Given the description of an element on the screen output the (x, y) to click on. 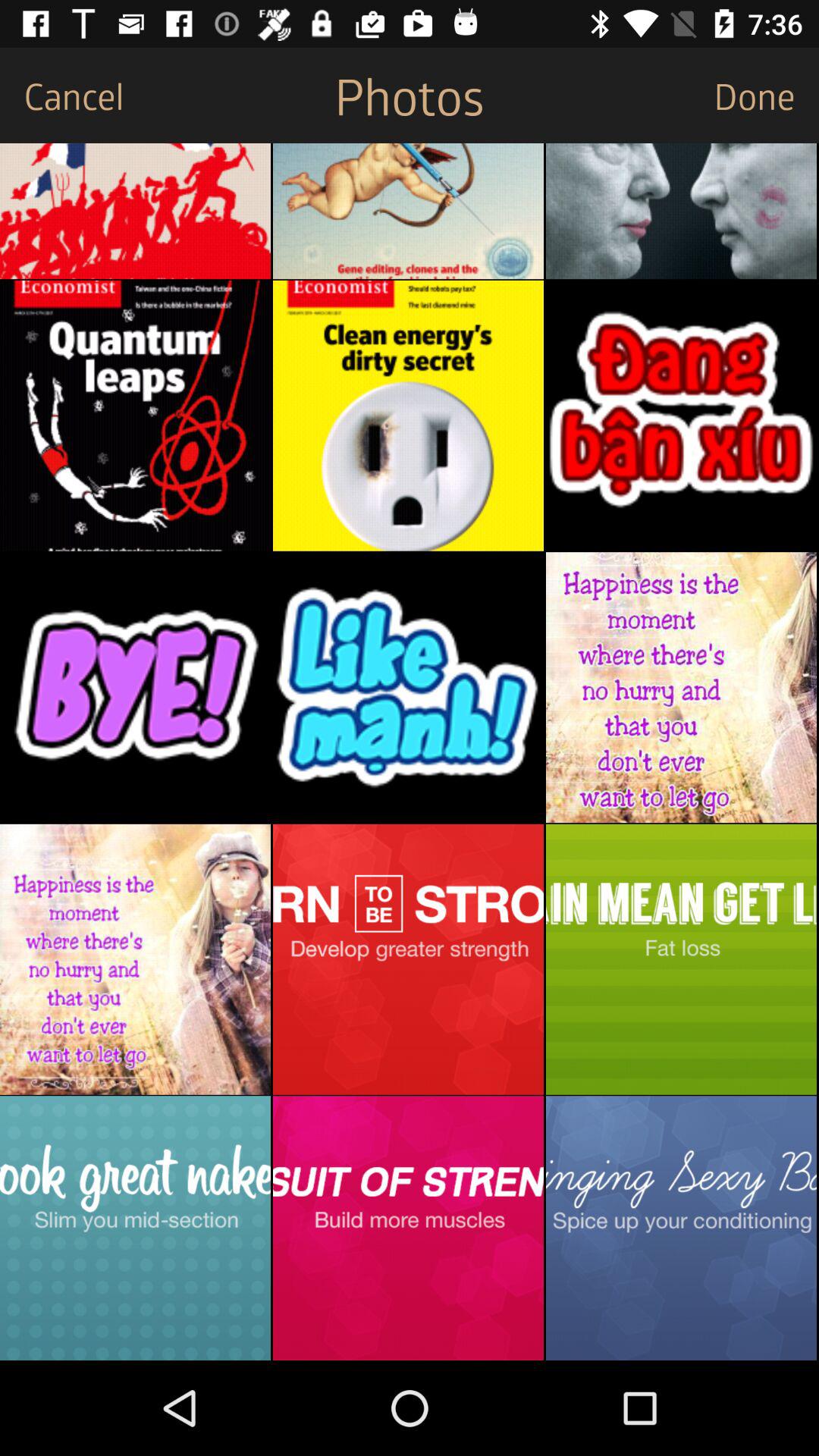
open photo (681, 415)
